Given the description of an element on the screen output the (x, y) to click on. 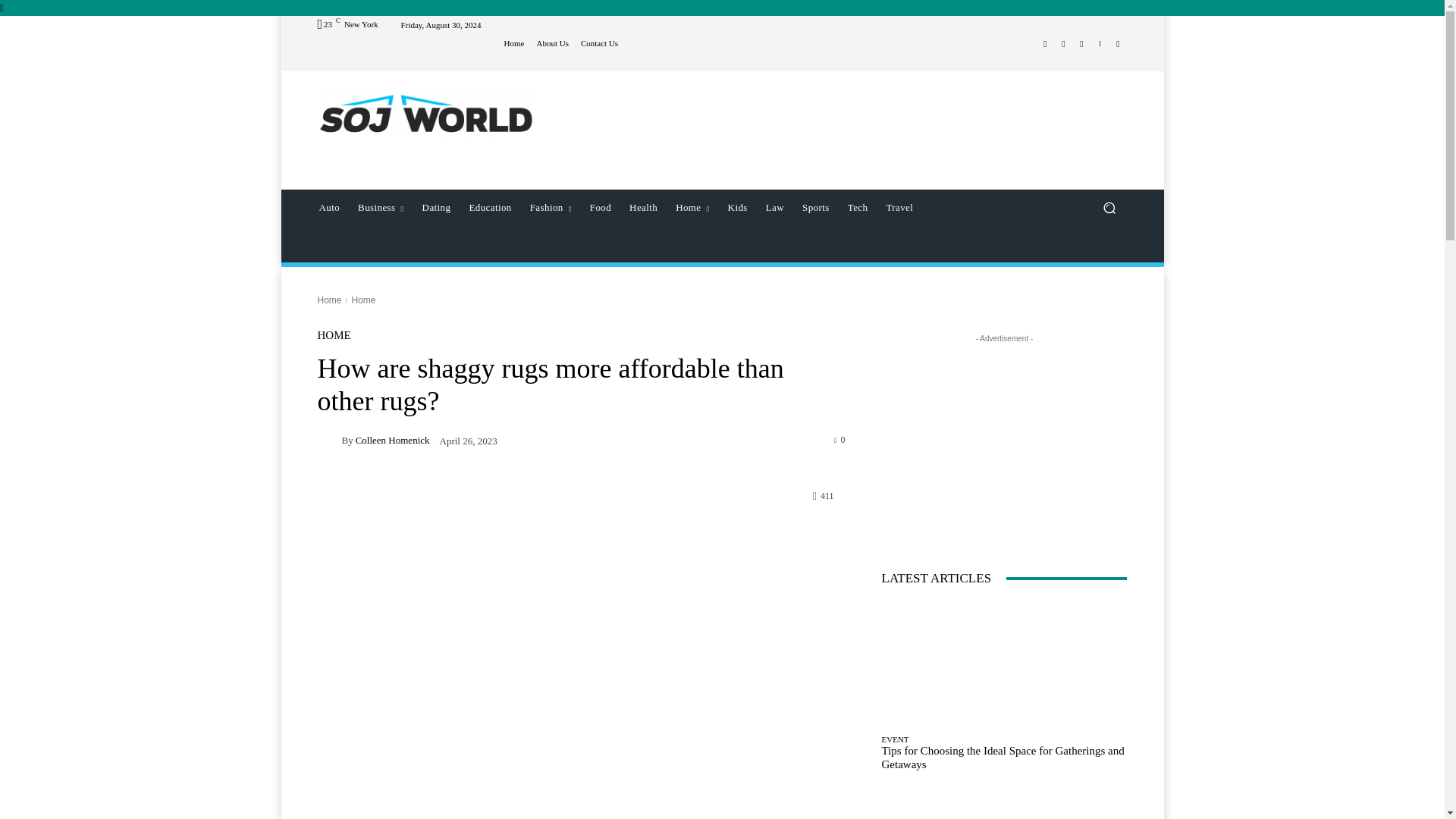
Vimeo (1099, 44)
sojworld.com (425, 112)
Health (643, 207)
Business (381, 207)
Facebook (1044, 44)
Auto (328, 207)
Fashion (550, 207)
Home (513, 43)
View all posts in Home (362, 299)
Twitter (1080, 44)
